Given the description of an element on the screen output the (x, y) to click on. 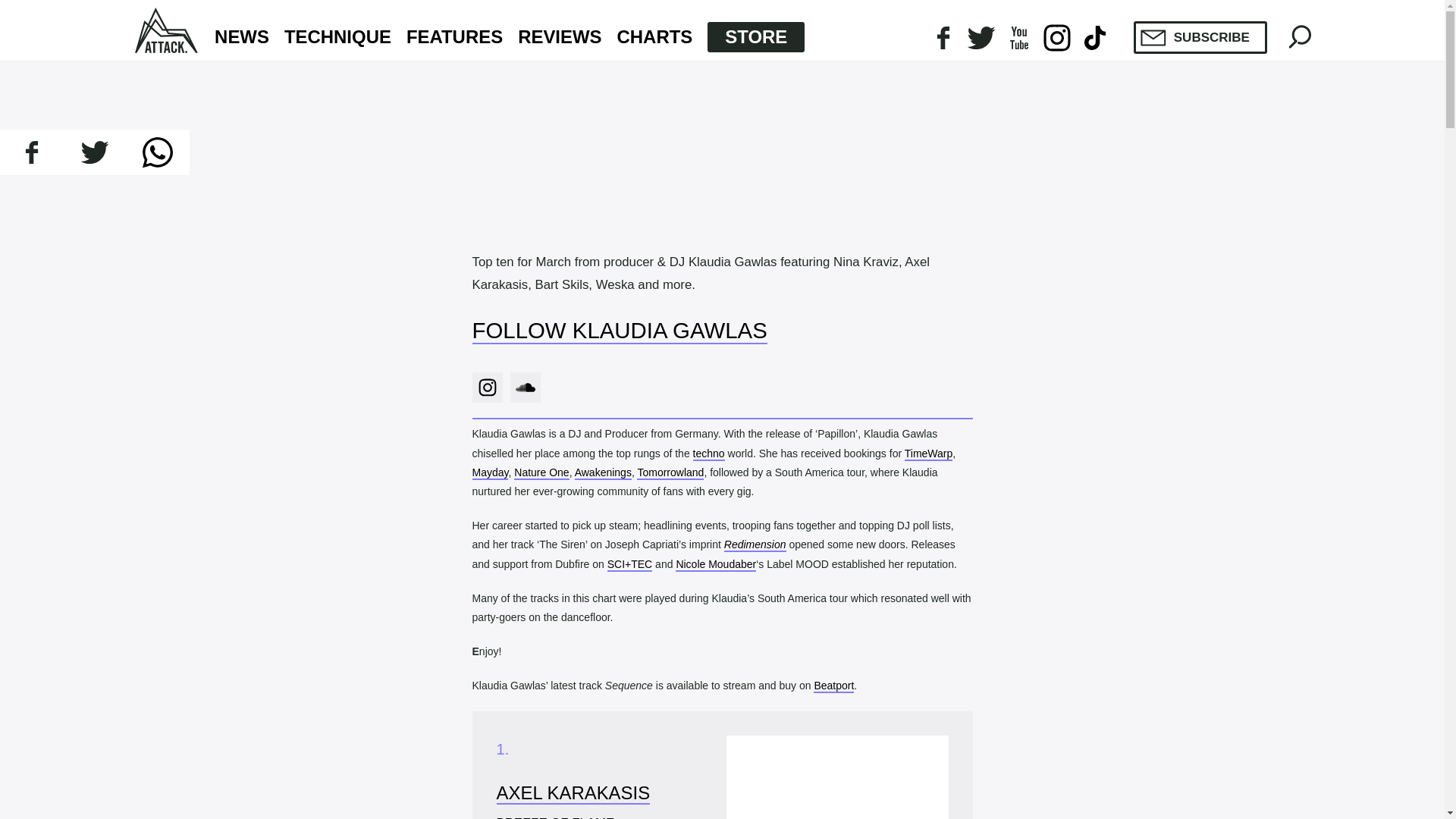
FEATURES (454, 37)
NEWS (241, 37)
Axel Karakasis - Breeze Of Flame (837, 777)
TECHNIQUE (337, 37)
Attack Magazine (167, 30)
REVIEWS (559, 37)
Attack Magazine (167, 30)
